Given the description of an element on the screen output the (x, y) to click on. 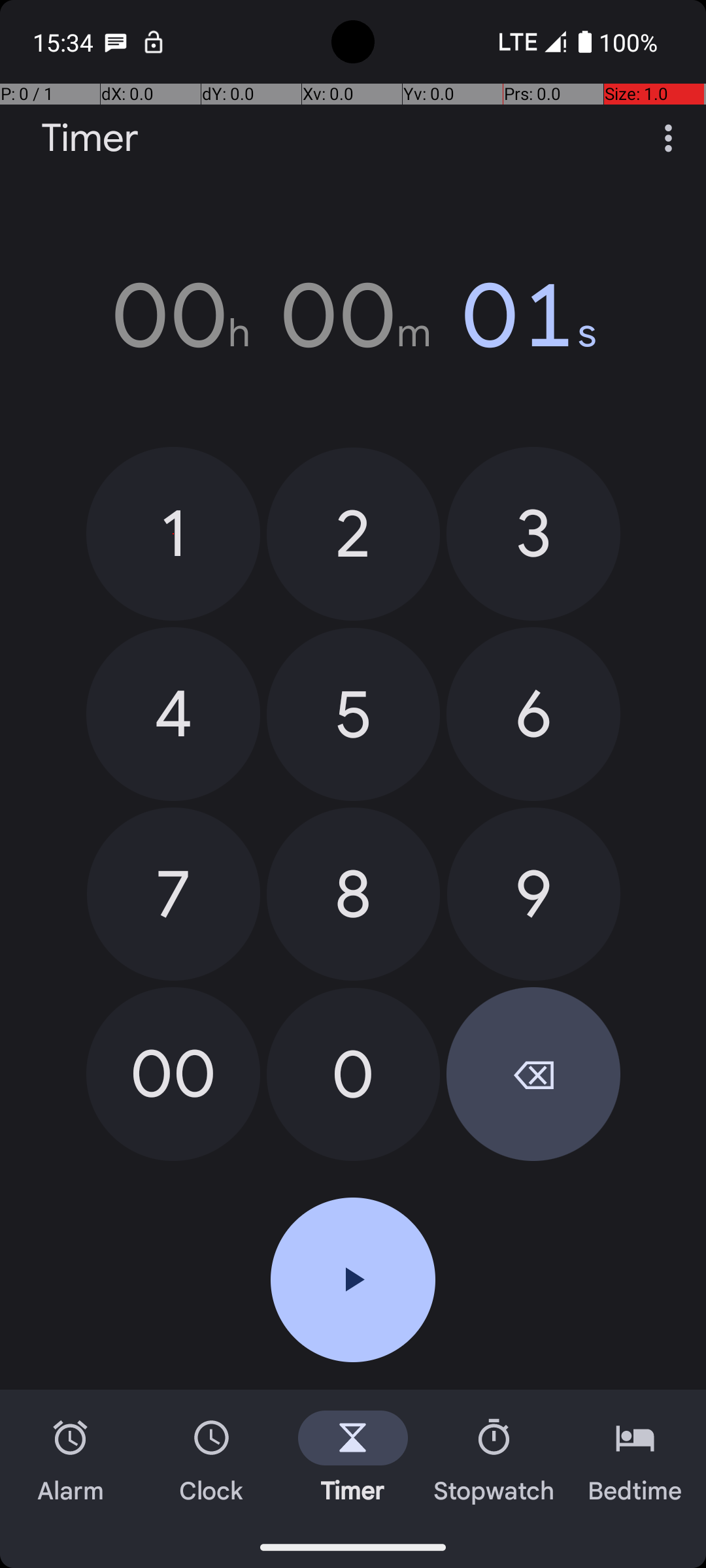
00h 00m 01s Element type: android.widget.TextView (353, 315)
Tasks notification: Connection security Element type: android.widget.ImageView (153, 41)
